Given the description of an element on the screen output the (x, y) to click on. 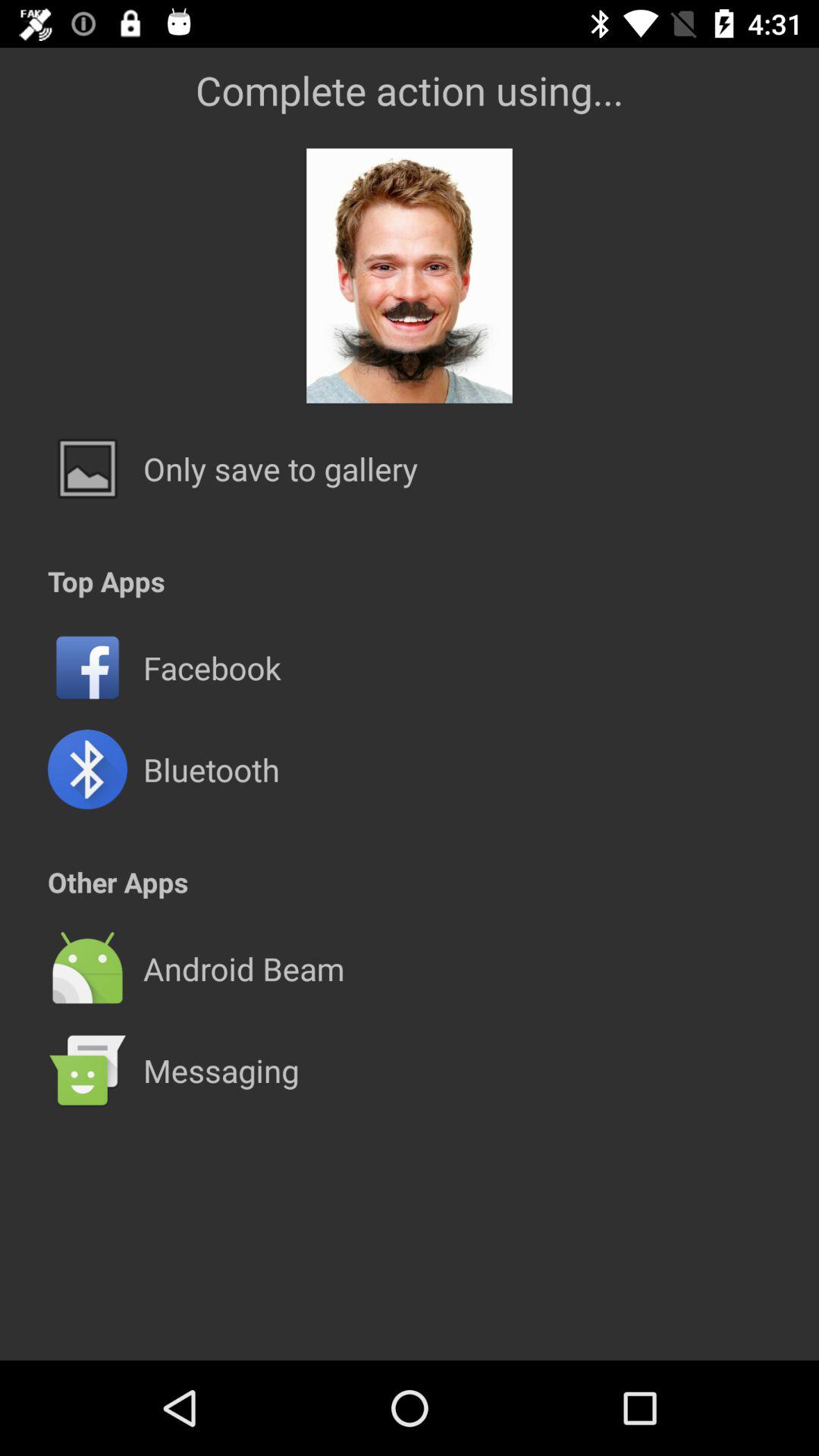
swipe to the android beam app (243, 968)
